Given the description of an element on the screen output the (x, y) to click on. 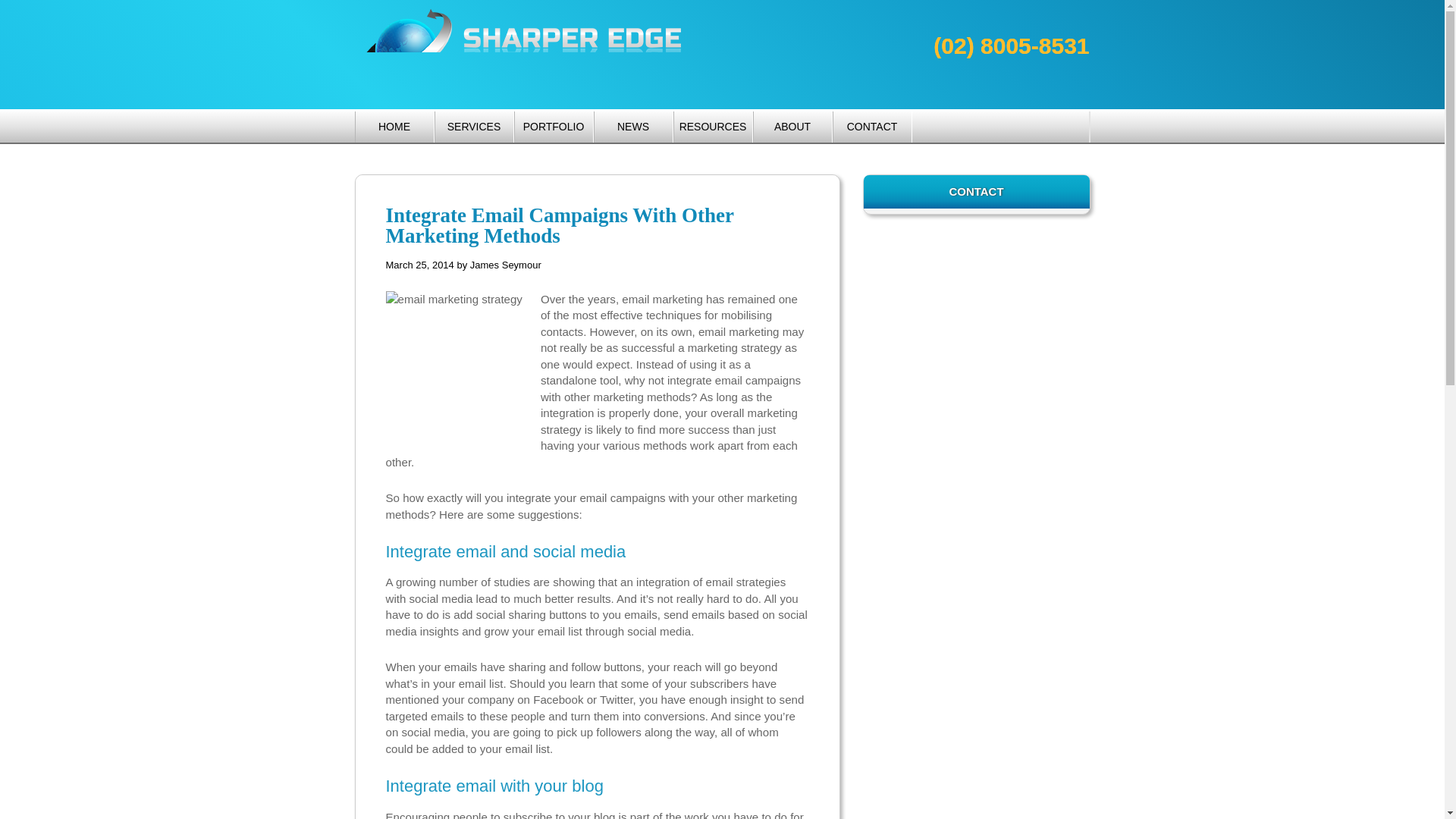
SERVICES (474, 126)
HOME (393, 126)
RESOURCES (711, 126)
Integrate Email Campaigns With Other Marketing Methods (559, 225)
Integrate Email Campaigns With Other Marketing Methods (559, 225)
NEWS (633, 126)
PORTFOLIO (552, 126)
ABOUT (792, 126)
James Seymour (505, 265)
CONTACT (871, 126)
